Given the description of an element on the screen output the (x, y) to click on. 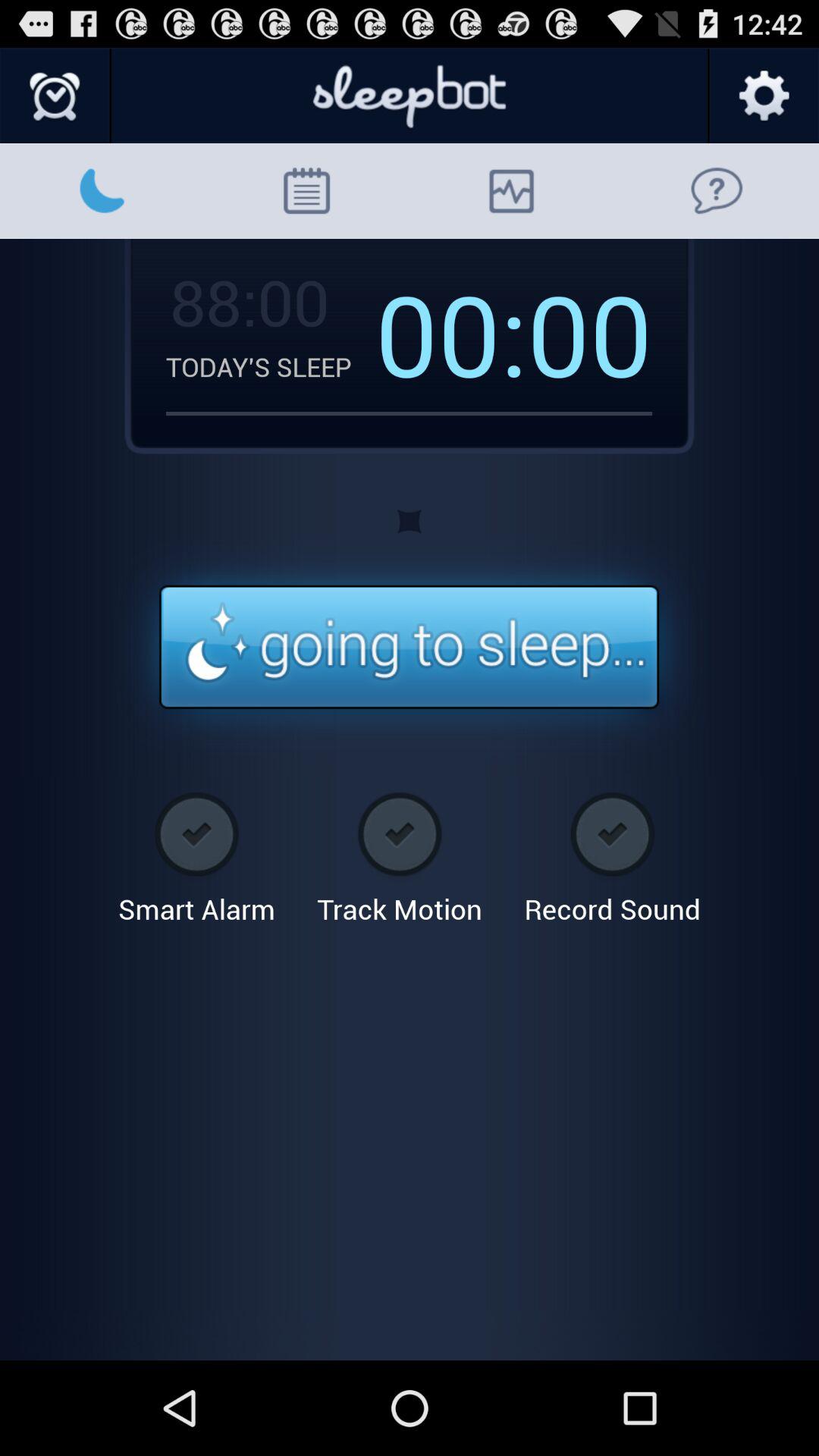
choose the item next to 00: (247, 301)
